Given the description of an element on the screen output the (x, y) to click on. 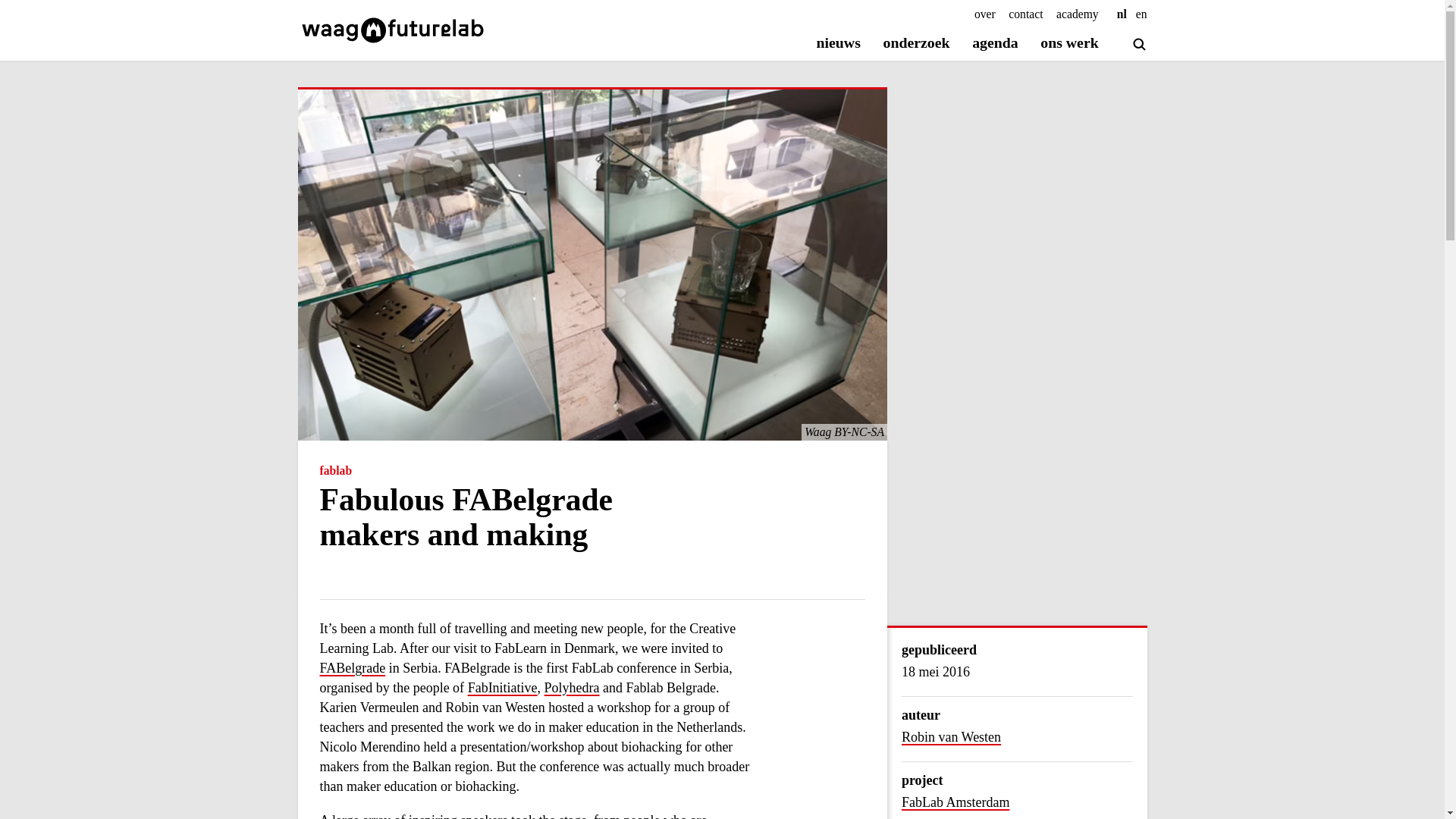
Polyhedra (571, 688)
contact (1025, 13)
onderzoek (916, 43)
ons werk (1069, 43)
academy (1078, 13)
Robin van Westen (951, 736)
FabInitiative (502, 688)
nieuws (838, 43)
FabLab Amsterdam (1016, 802)
agenda (994, 43)
